Given the description of an element on the screen output the (x, y) to click on. 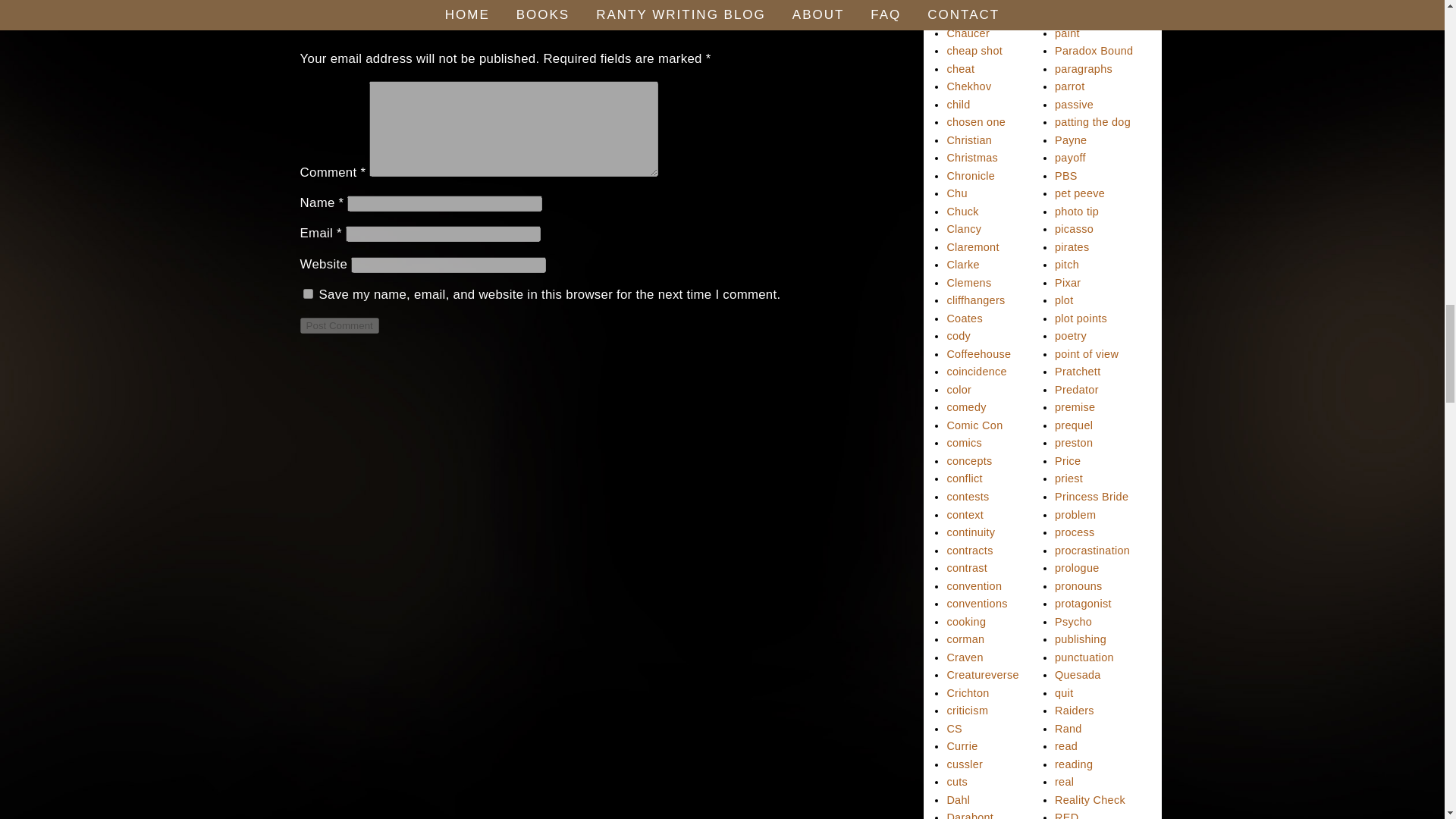
yes (307, 293)
Post Comment (338, 325)
Post Comment (338, 325)
